Given the description of an element on the screen output the (x, y) to click on. 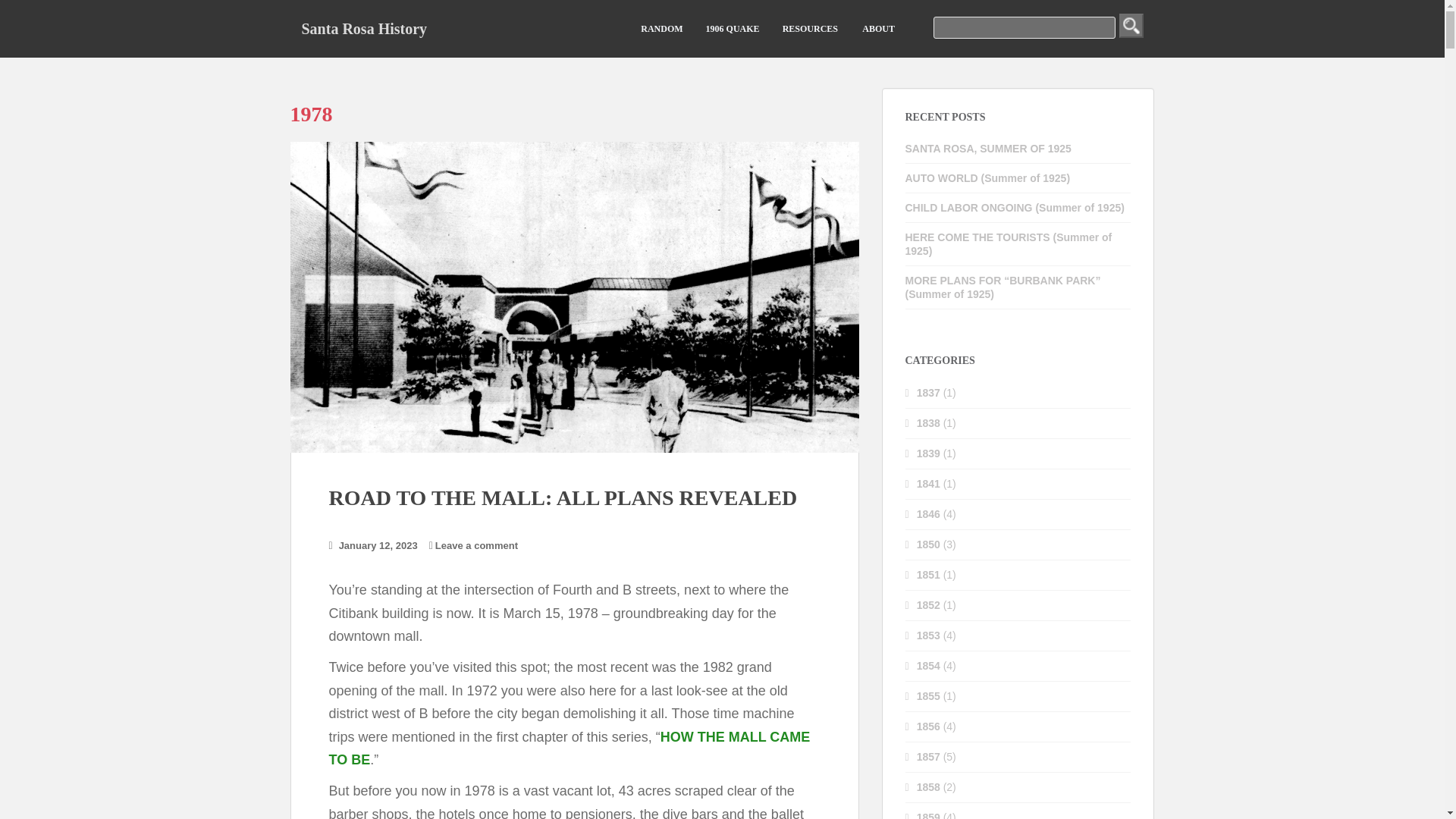
Search (1130, 25)
Santa Rosa History (363, 28)
HOW THE MALL CAME TO BE (569, 748)
Search (1130, 25)
ABOUT (876, 28)
 ABOUT (876, 28)
SANTA ROSA, SUMMER OF 1925 (988, 148)
1906 QUAKE (732, 28)
RESOURCES (809, 28)
RANDOM (661, 28)
